Given the description of an element on the screen output the (x, y) to click on. 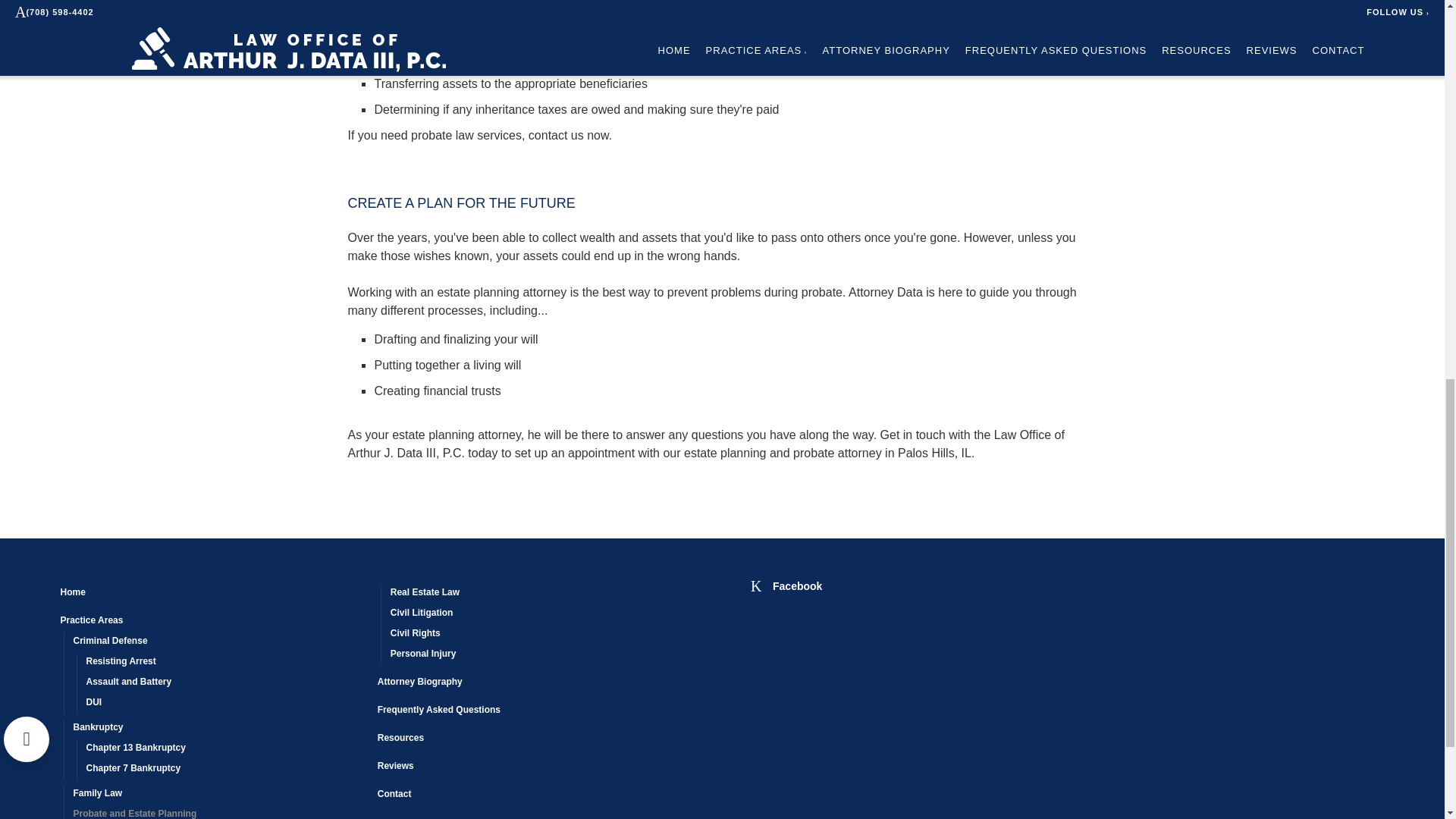
Resisting Arrest (225, 662)
DUI (225, 703)
Home (212, 593)
Bankruptcy (218, 729)
Facebook (786, 584)
Assault and Battery (225, 683)
Criminal Defense (218, 642)
Practice Areas (212, 621)
